Given the description of an element on the screen output the (x, y) to click on. 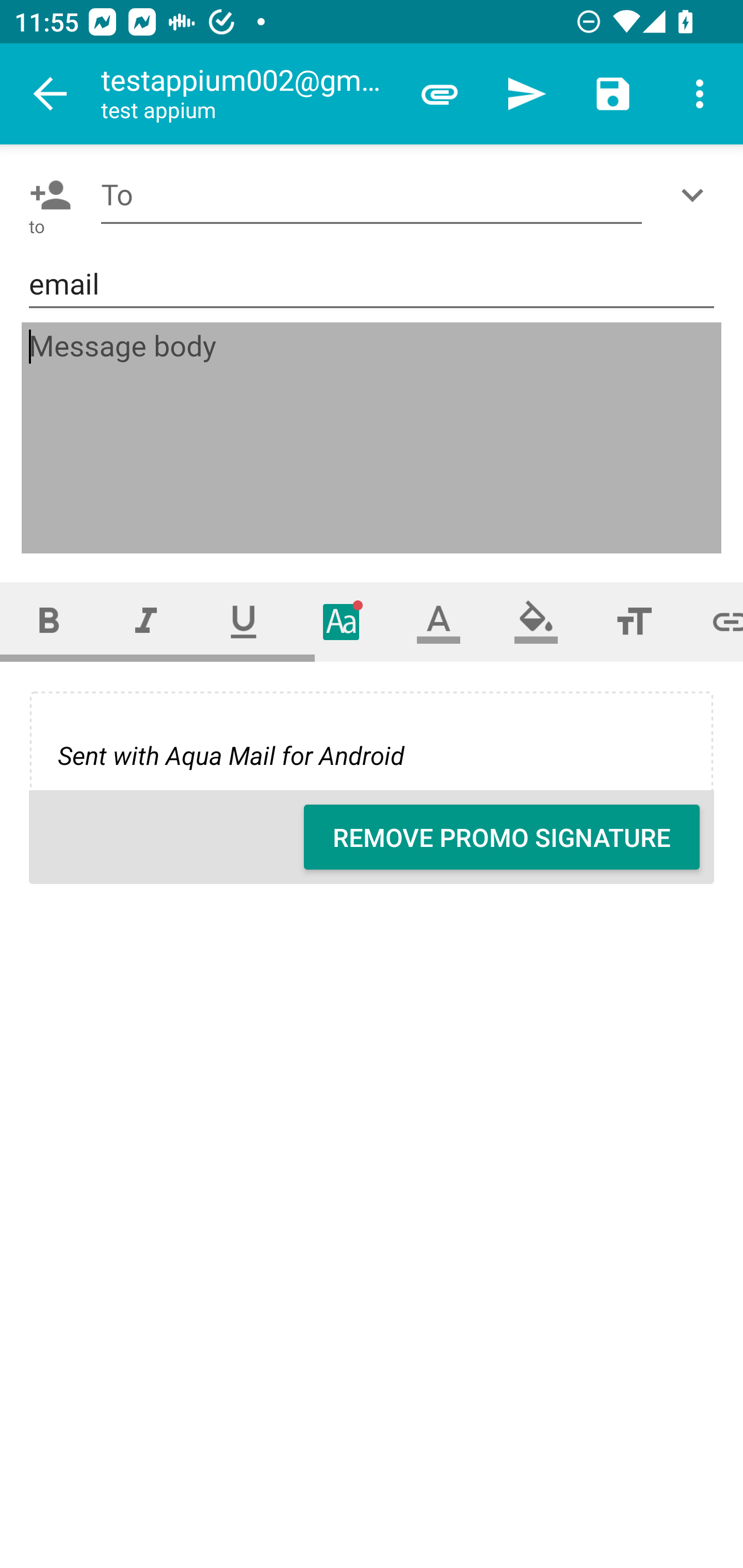
Navigate up (50, 93)
testappium002@gmail.com test appium (248, 93)
Attach (439, 93)
Send (525, 93)
Save (612, 93)
More options (699, 93)
Pick contact: To (46, 195)
Show/Add CC/BCC (696, 195)
To (371, 195)
email (371, 284)
Message body (372, 438)
Bold (48, 621)
Italic (145, 621)
Underline (243, 621)
Typeface (font) (341, 621)
Text color (438, 621)
Fill color (536, 621)
Font size (633, 621)
REMOVE PROMO SIGNATURE (501, 837)
